Given the description of an element on the screen output the (x, y) to click on. 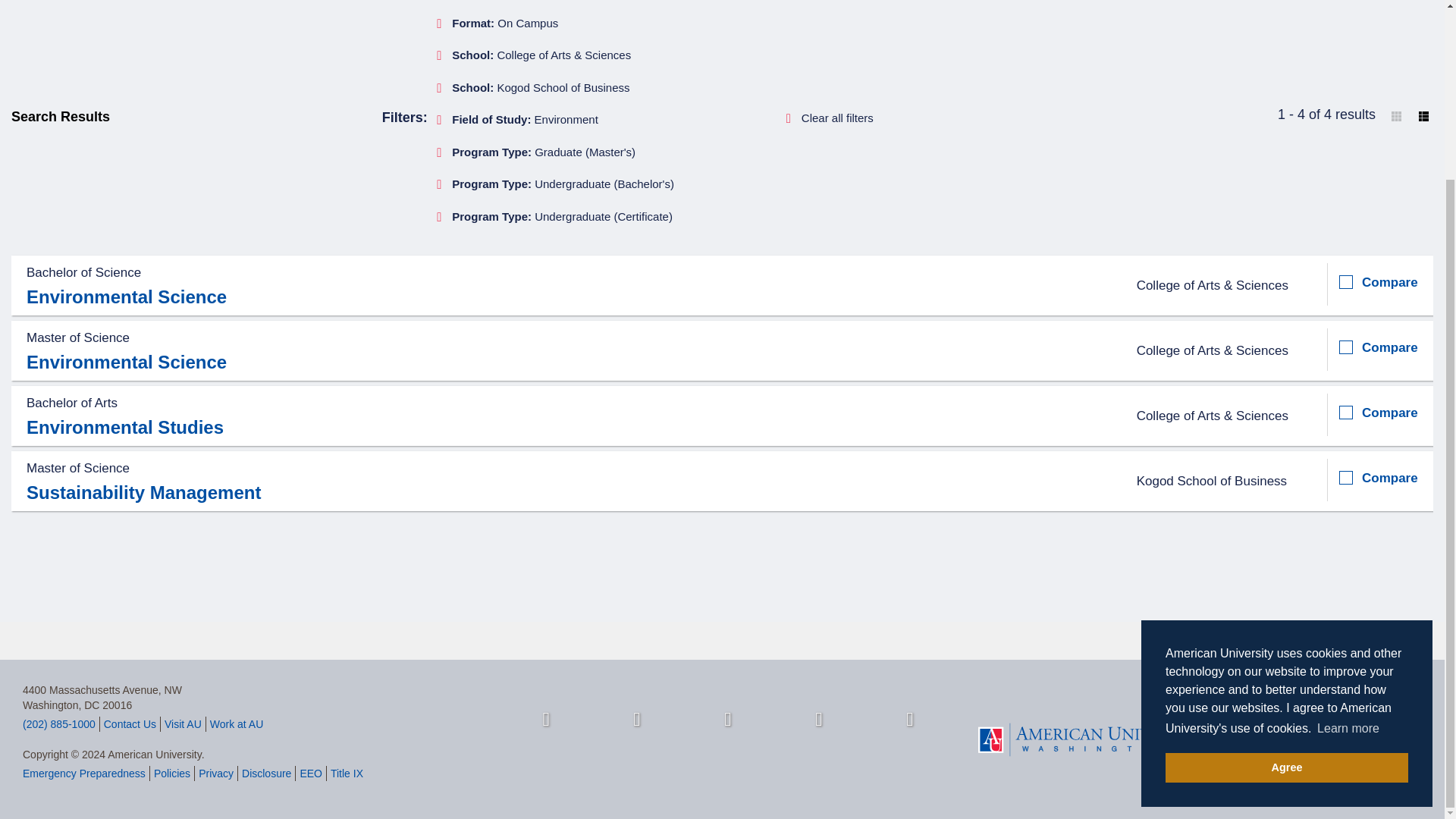
Remove 'Field of Study: Environment' (520, 120)
Agree (1286, 548)
Display results as cards (1396, 115)
Remove 'School: Kogod School of Business' (536, 88)
Learn more (1347, 508)
Display results as a list (1423, 115)
Remove 'Format: On Campus' (500, 22)
